Given the description of an element on the screen output the (x, y) to click on. 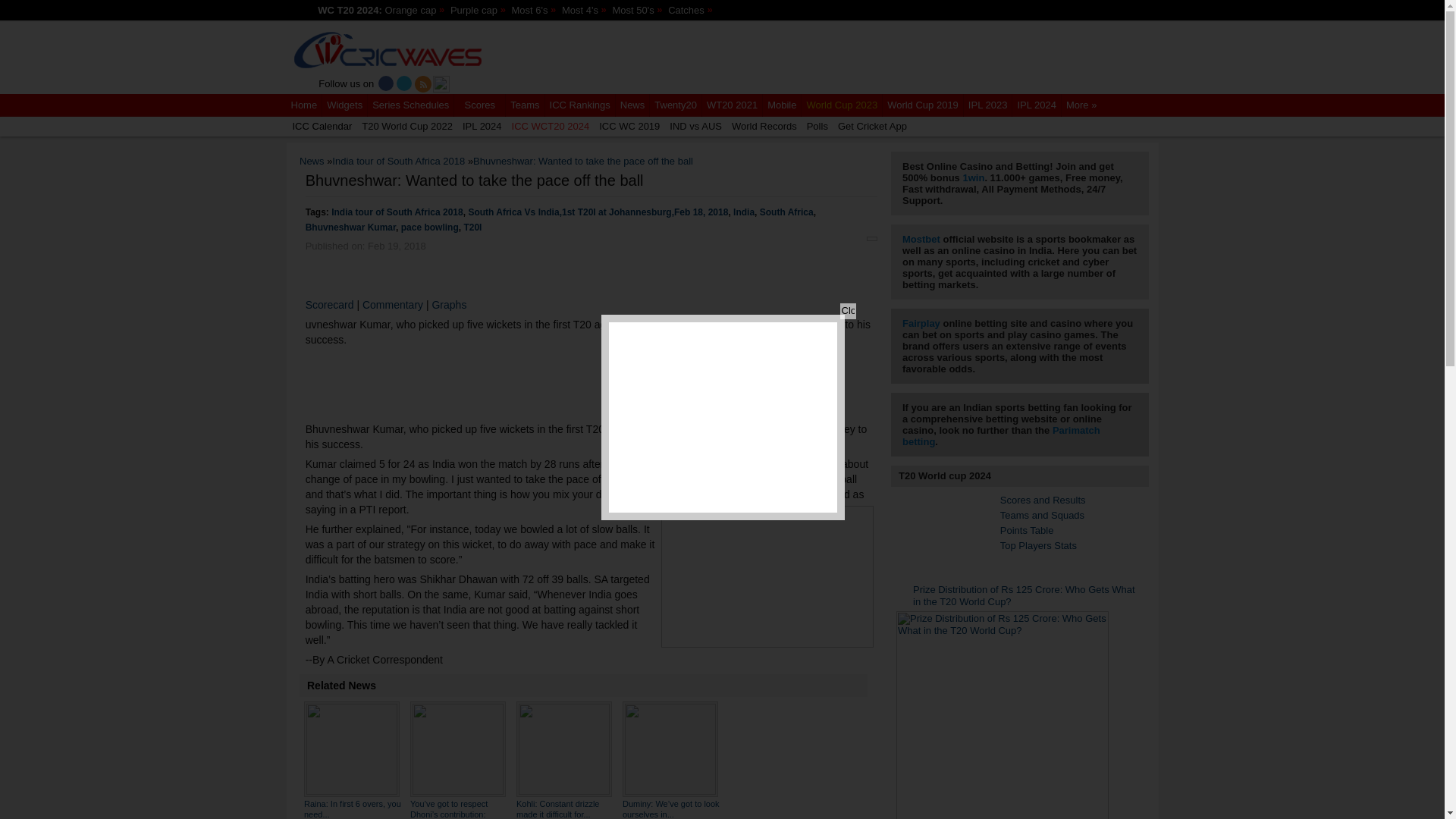
View Cricket Score Widgets (344, 105)
Live Cricket Scores (304, 105)
Series Schedules (410, 105)
Widgets (344, 105)
Purple cap (474, 9)
Most 4's (581, 9)
Top runs Scorers (411, 9)
For Live Cricket Scores (388, 57)
Most 6s by player  (530, 9)
Most catches taken (687, 9)
Most 50's (633, 9)
  Scores   (479, 105)
Live Cricket Scores (386, 52)
Teams (524, 105)
View Tournaments Schedules, Squads and Points Table (410, 105)
